Given the description of an element on the screen output the (x, y) to click on. 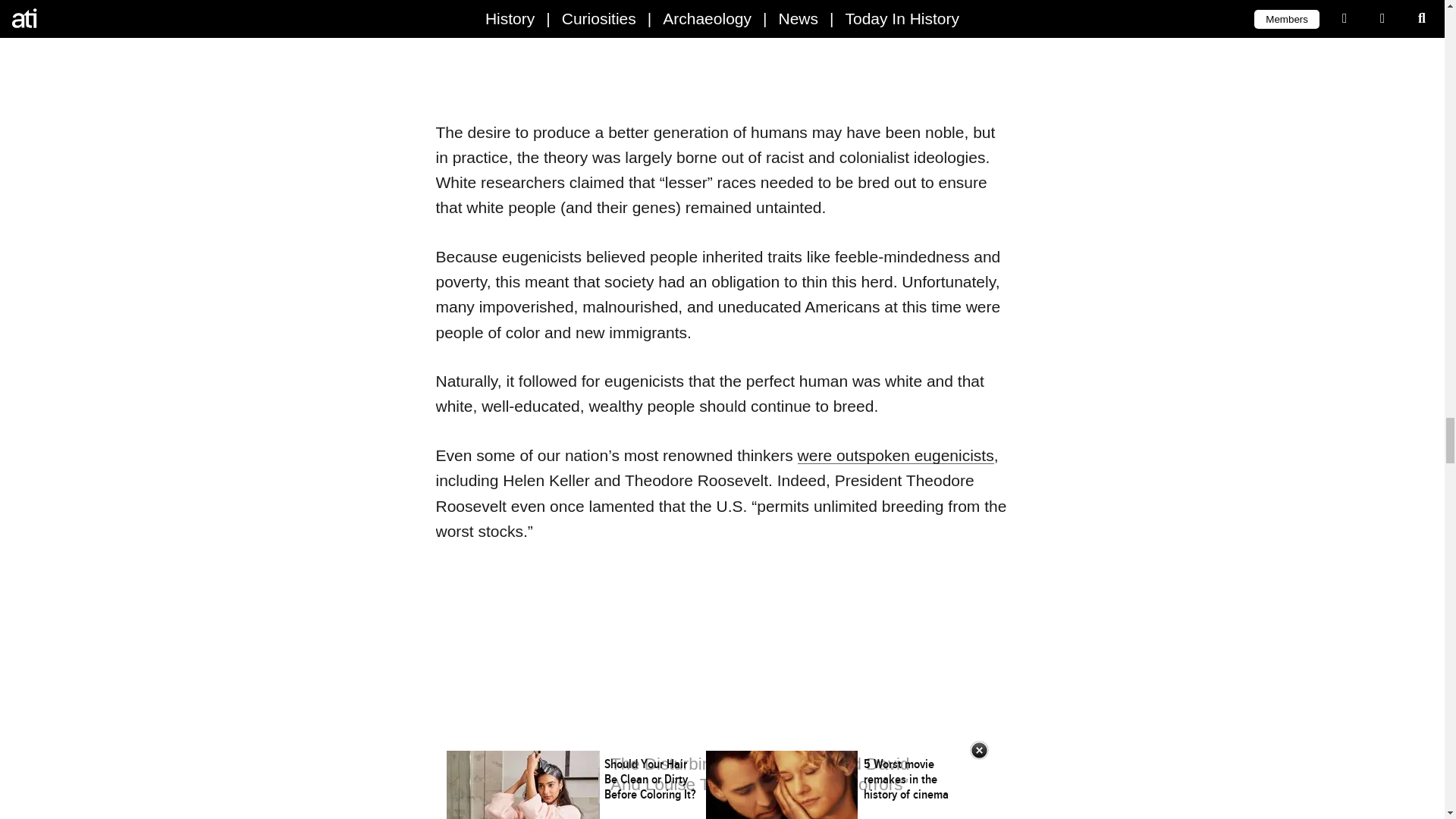
were outspoken eugenicists (895, 455)
